Given the description of an element on the screen output the (x, y) to click on. 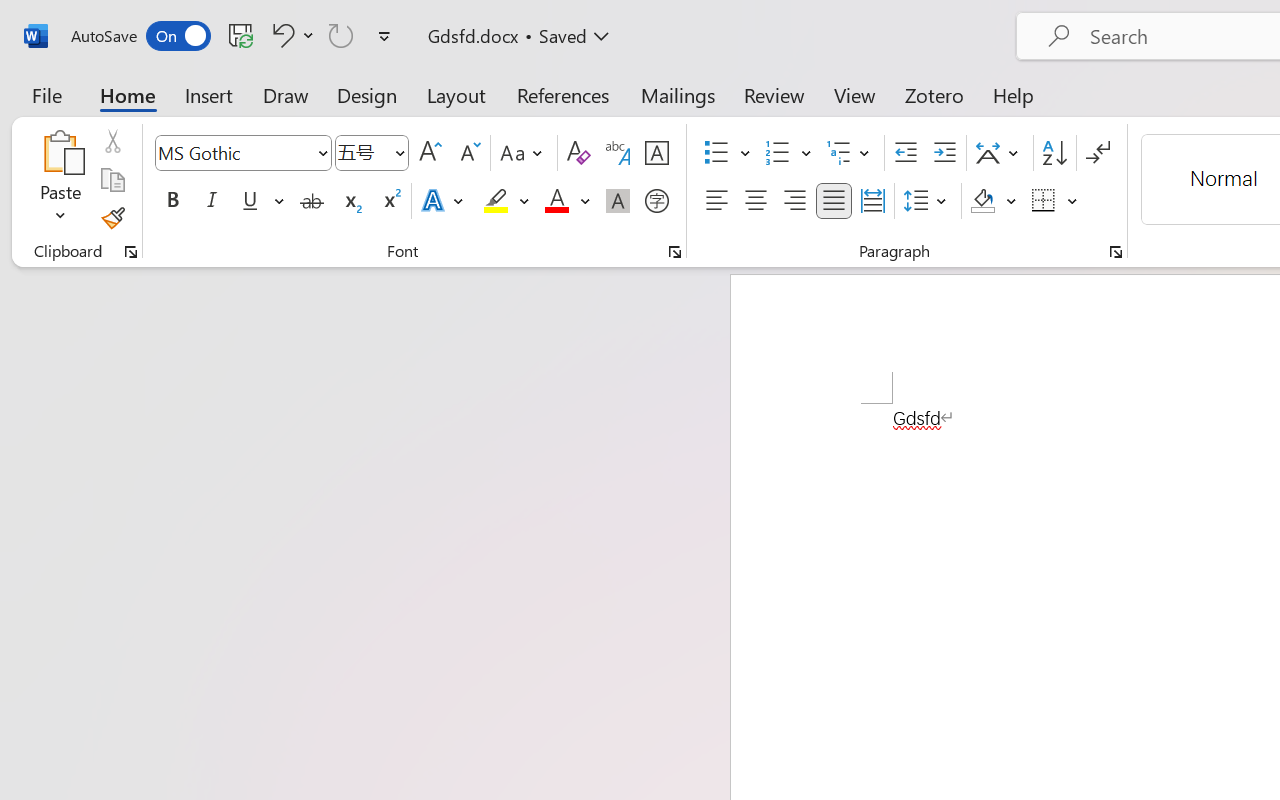
Can't Repeat (341, 35)
Sort... (1054, 153)
Text Effects and Typography (444, 201)
Character Shading (618, 201)
Distributed (872, 201)
Clear Formatting (578, 153)
Character Border (656, 153)
